Given the description of an element on the screen output the (x, y) to click on. 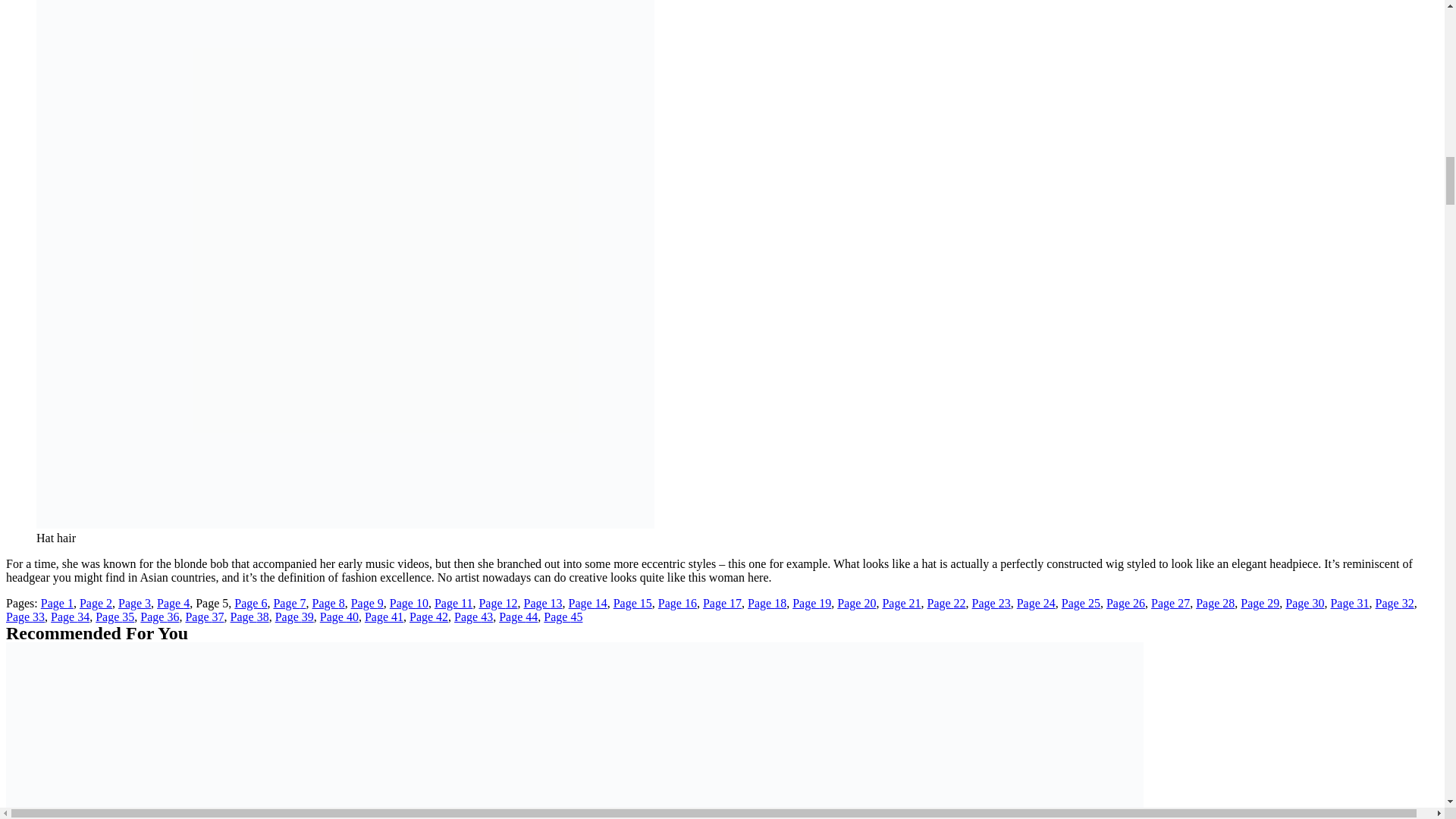
Page 16 (677, 603)
Page 11 (453, 603)
Page 3 (134, 603)
Page 15 (632, 603)
Page 6 (250, 603)
Page 9 (367, 603)
Page 8 (329, 603)
Page 17 (722, 603)
Page 7 (289, 603)
Page 12 (497, 603)
Page 14 (588, 603)
Page 22 (945, 603)
Page 21 (901, 603)
Page 13 (542, 603)
Page 10 (409, 603)
